Given the description of an element on the screen output the (x, y) to click on. 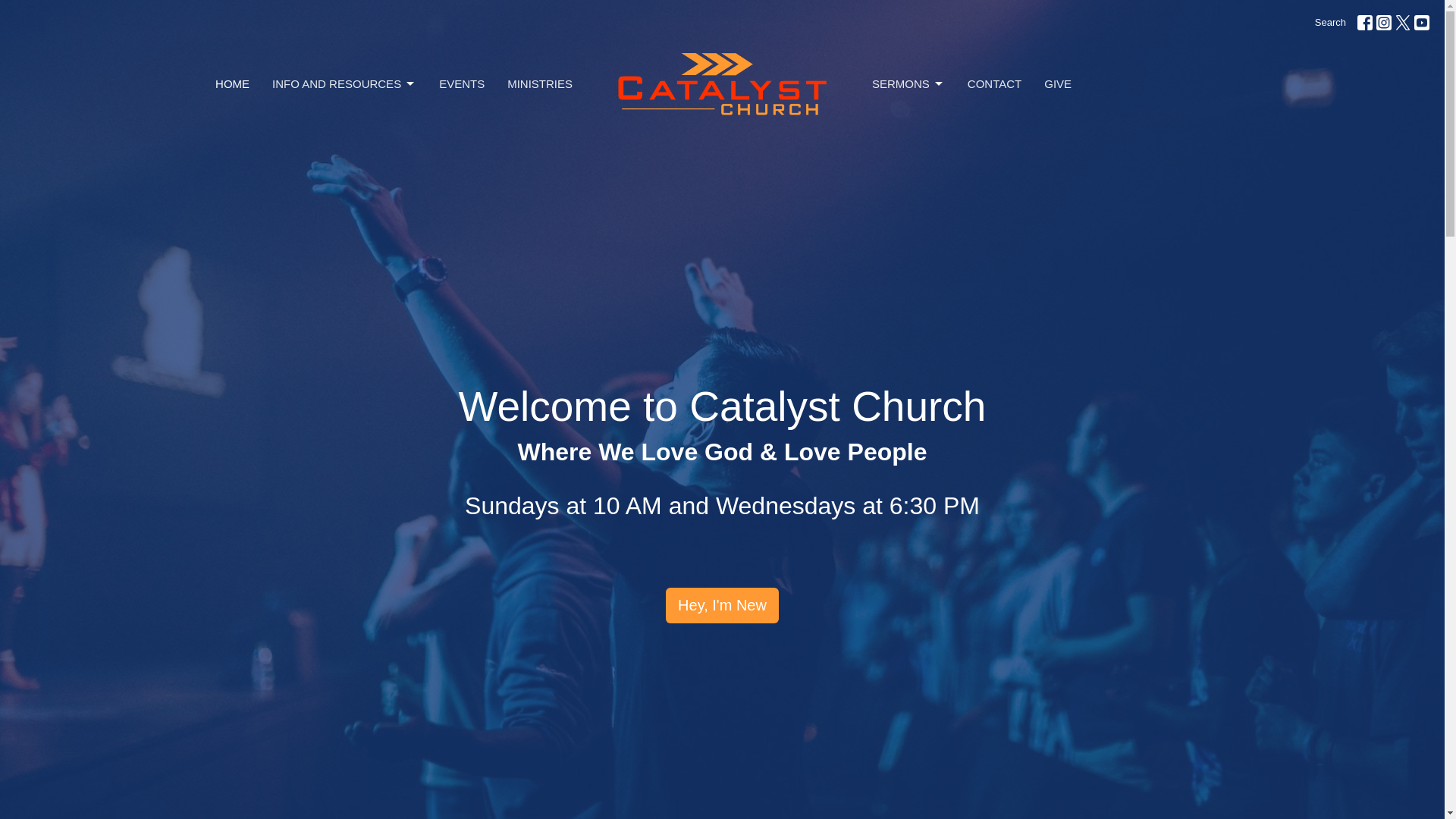
Search (1330, 22)
MINISTRIES (539, 83)
Hey, I'm New (721, 605)
GIVE (1057, 83)
SERMONS (908, 83)
INFO AND RESOURCES (344, 83)
EVENTS (461, 83)
HOME (231, 83)
CONTACT (995, 83)
